Given the description of an element on the screen output the (x, y) to click on. 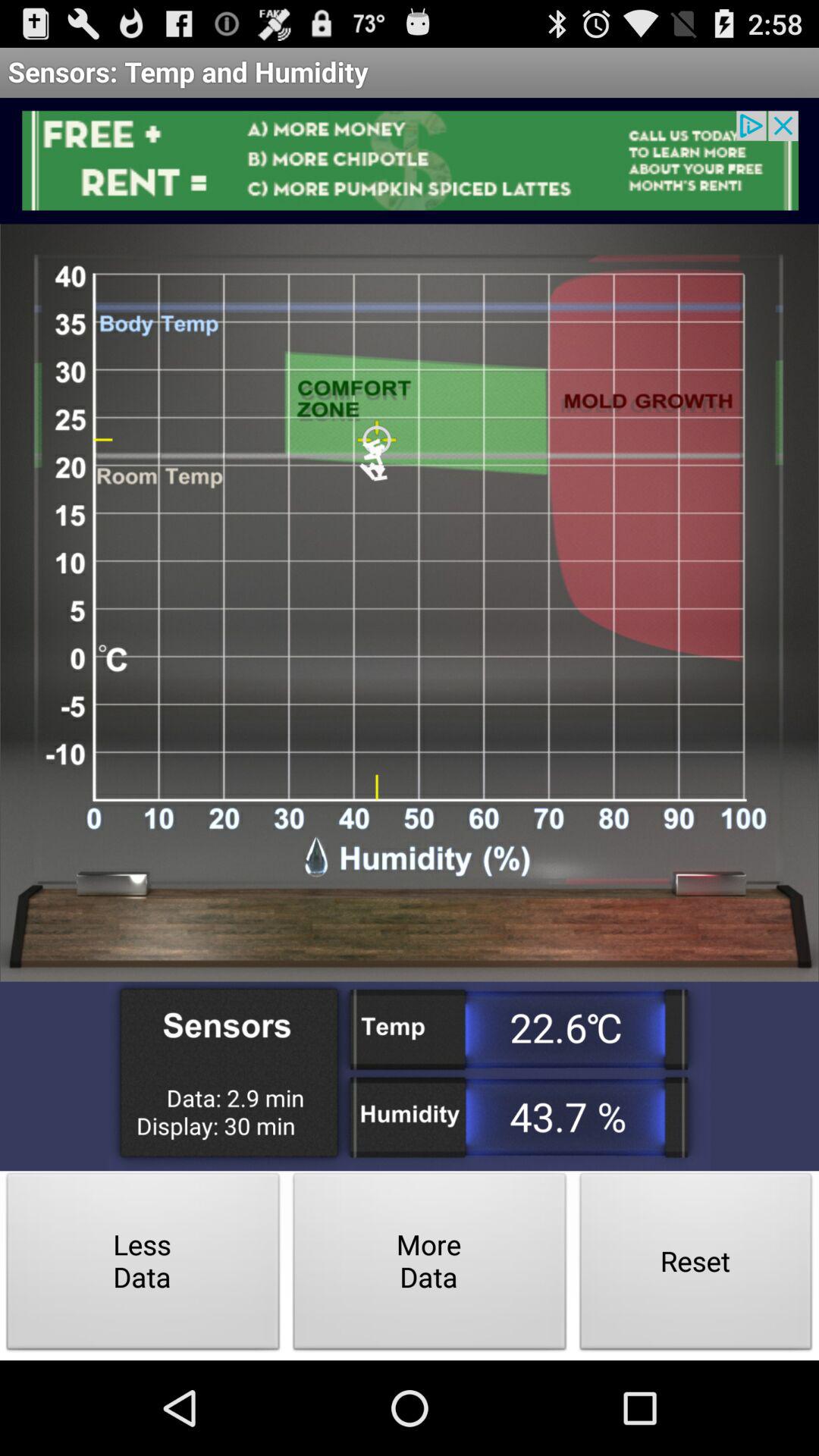
launch the button to the right of less
data (429, 1265)
